Given the description of an element on the screen output the (x, y) to click on. 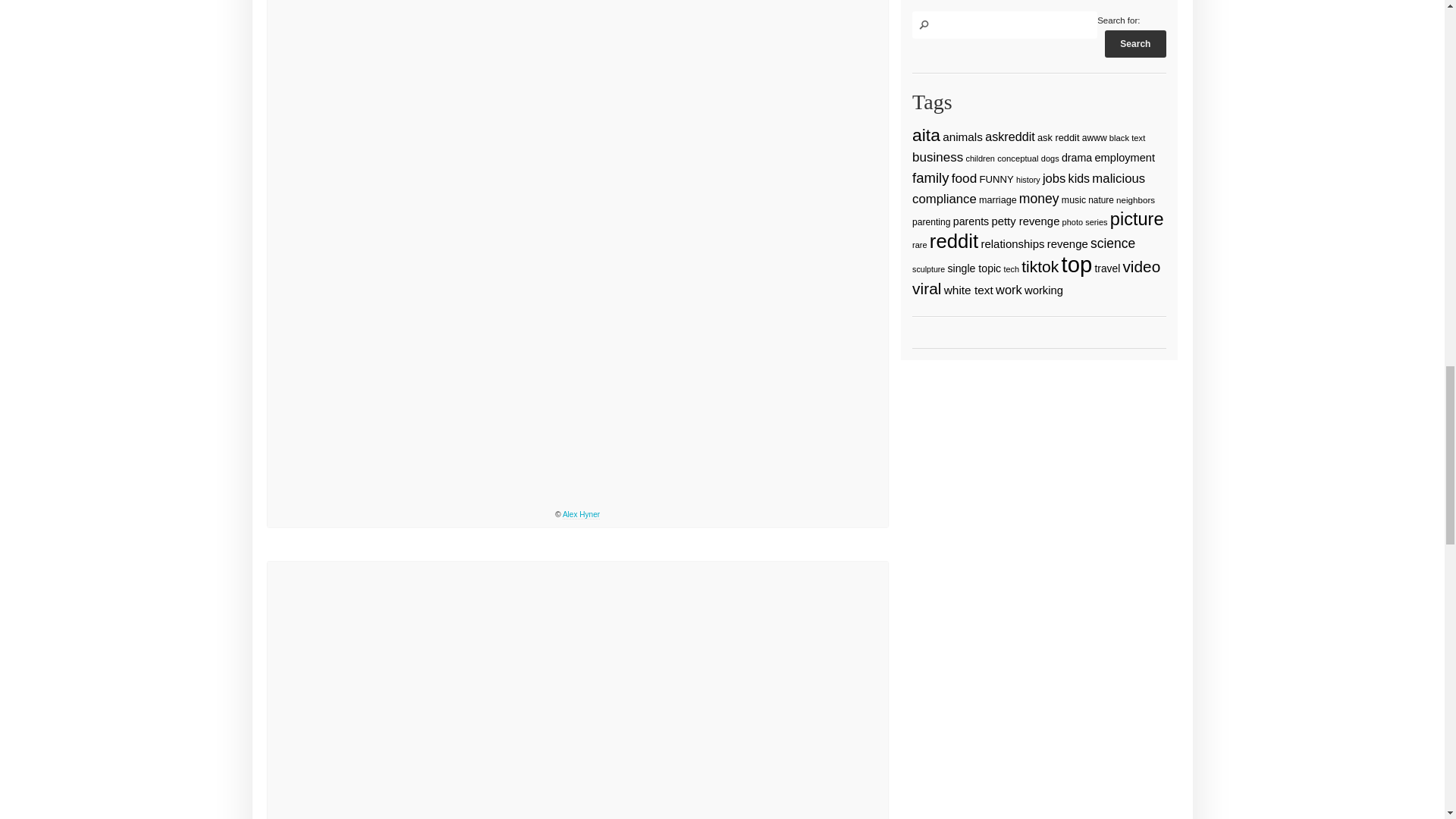
Twenty Skies (577, 690)
Alex Hyner (580, 514)
Search (1135, 43)
